Given the description of an element on the screen output the (x, y) to click on. 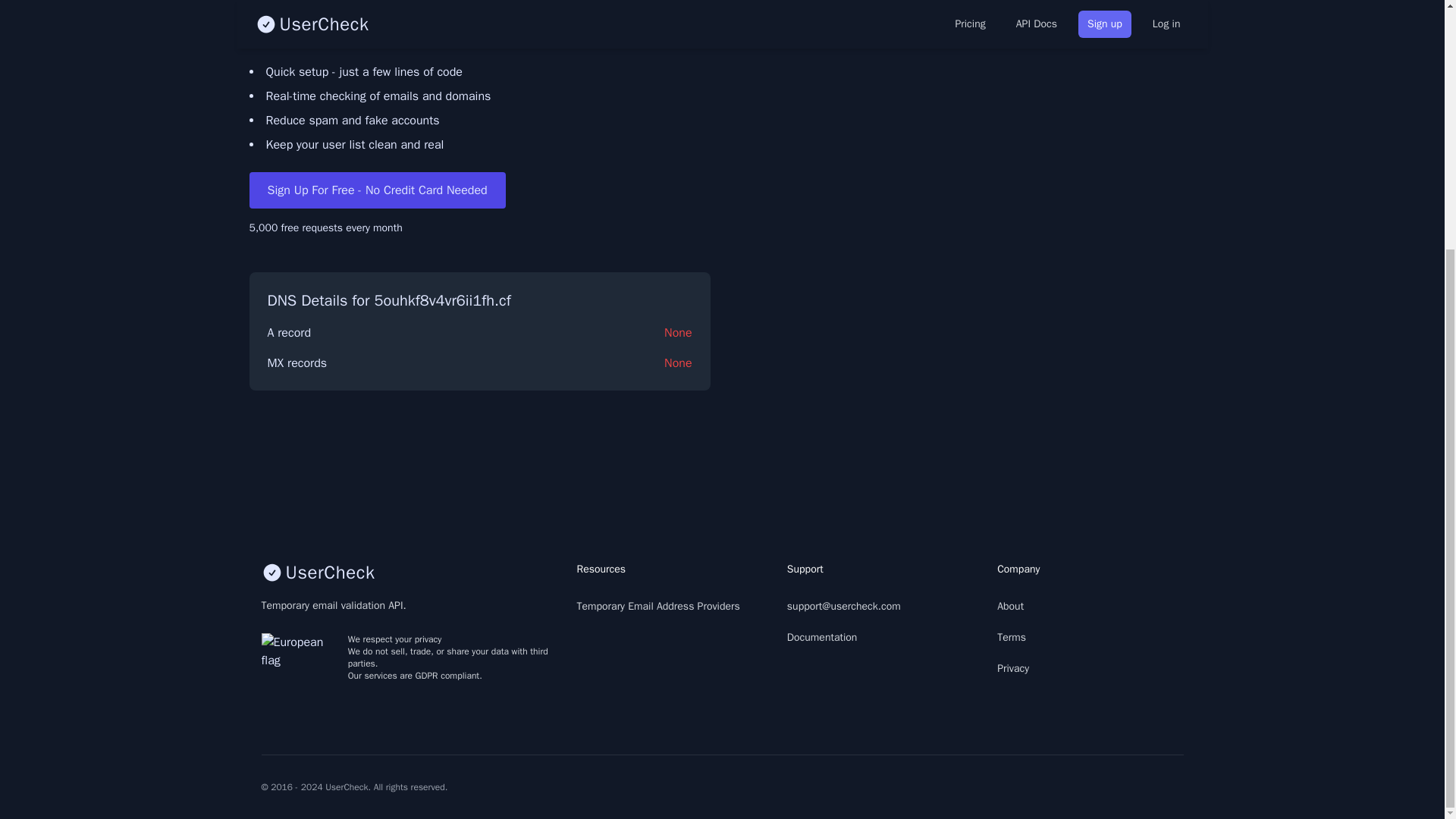
Terms (1011, 636)
About (1010, 605)
Privacy (1013, 667)
Temporary Email Address Providers (657, 605)
Sign Up For Free - No Credit Card Needed (376, 189)
UserCheck (405, 572)
Documentation (822, 636)
